Given the description of an element on the screen output the (x, y) to click on. 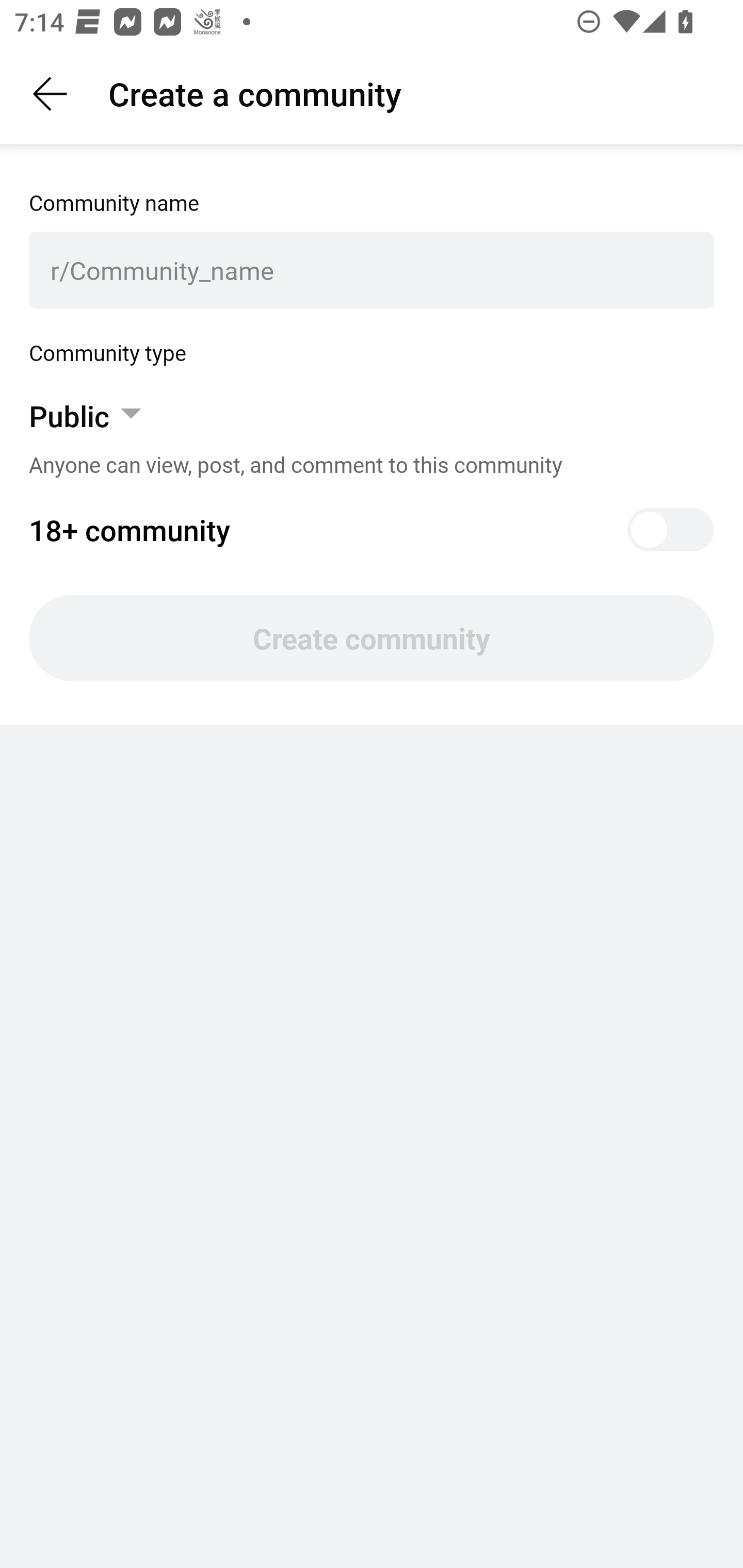
Community_name (380, 270)
18+ community (371, 529)
Create community (371, 638)
